Given the description of an element on the screen output the (x, y) to click on. 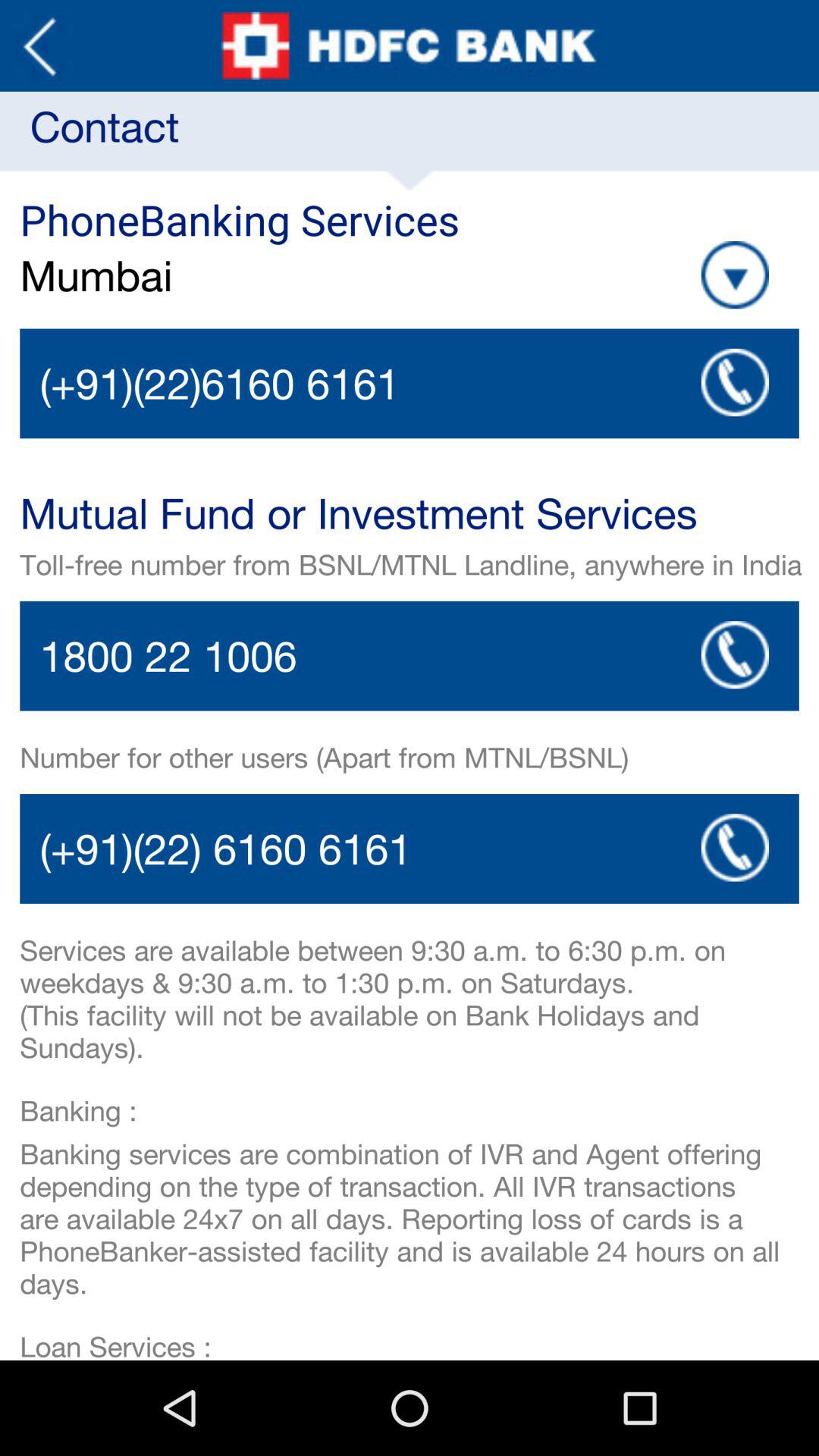
launch mumbai (248, 275)
